Given the description of an element on the screen output the (x, y) to click on. 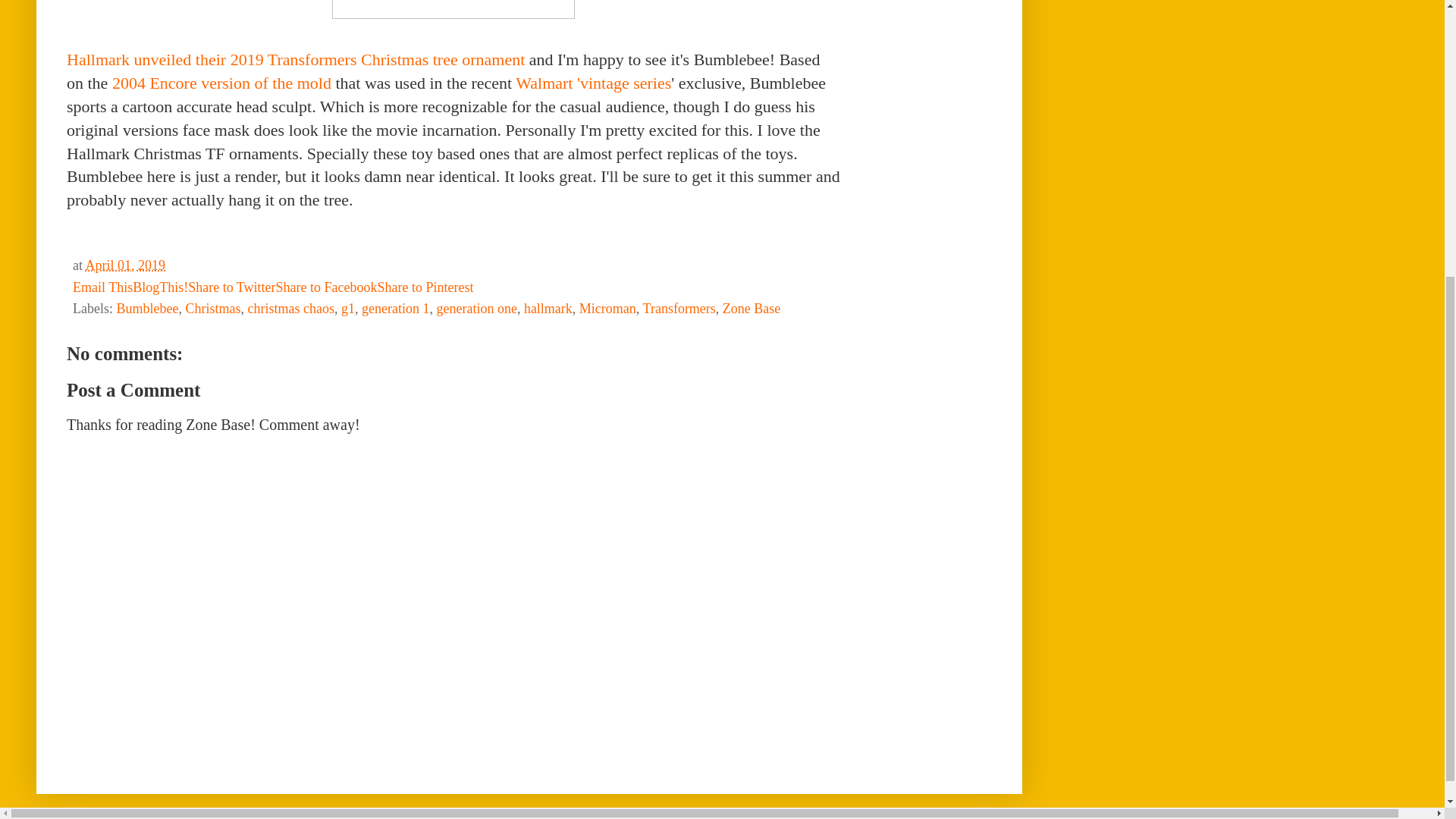
hallmark (548, 308)
generation one (475, 308)
generation 1 (395, 308)
April 01, 2019 (124, 264)
Microman (607, 308)
g1 (347, 308)
2004 Encore version of the mold (221, 82)
Bumblebee (146, 308)
Share to Facebook (326, 287)
Share to Twitter (231, 287)
